Given the description of an element on the screen output the (x, y) to click on. 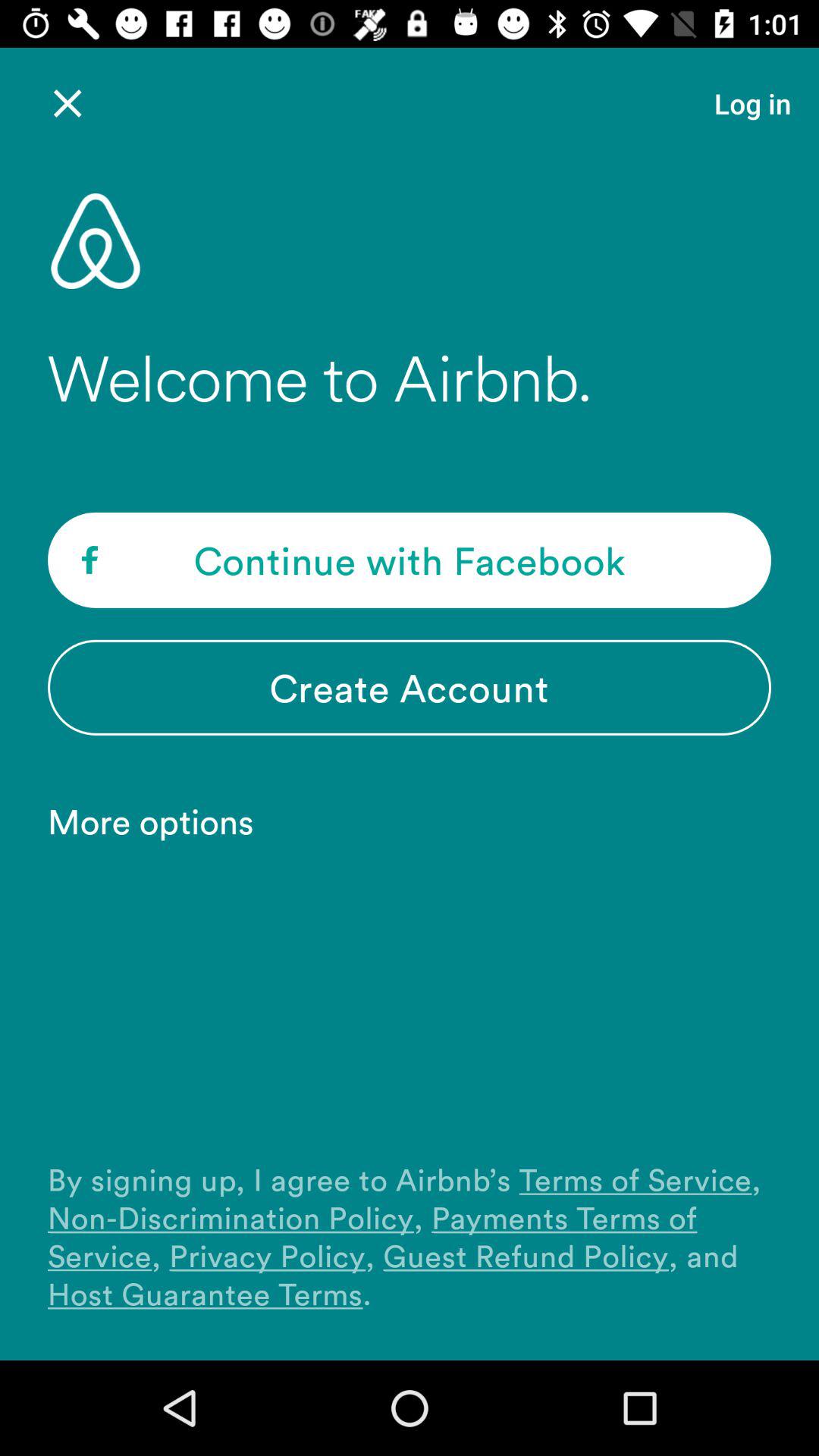
open icon below the create account icon (158, 820)
